Given the description of an element on the screen output the (x, y) to click on. 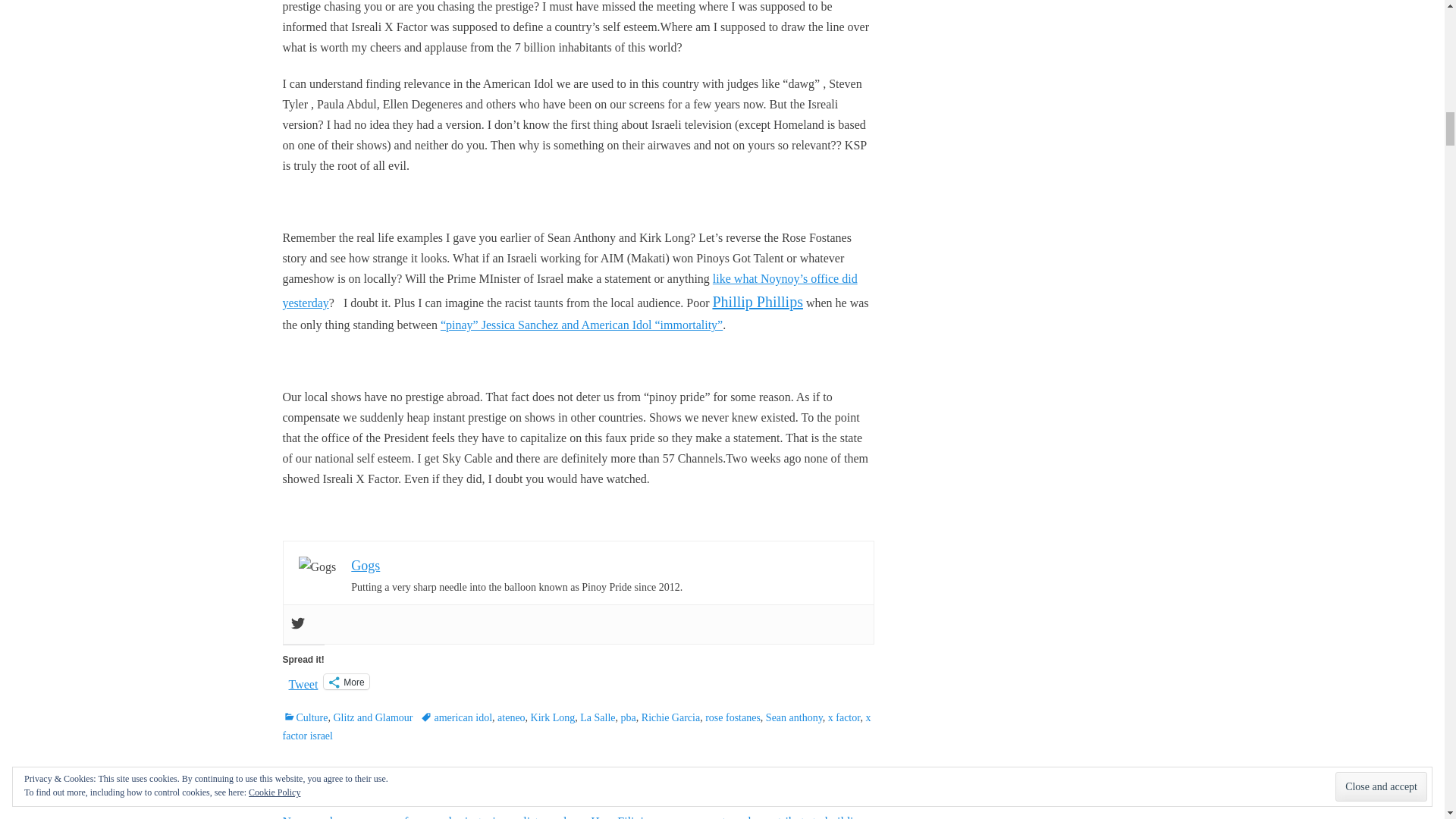
American Idol  (581, 324)
Phillip Phillips (756, 301)
Phillip Phillips (756, 301)
KSP!!!!!!!!!!!  (569, 290)
